Given the description of an element on the screen output the (x, y) to click on. 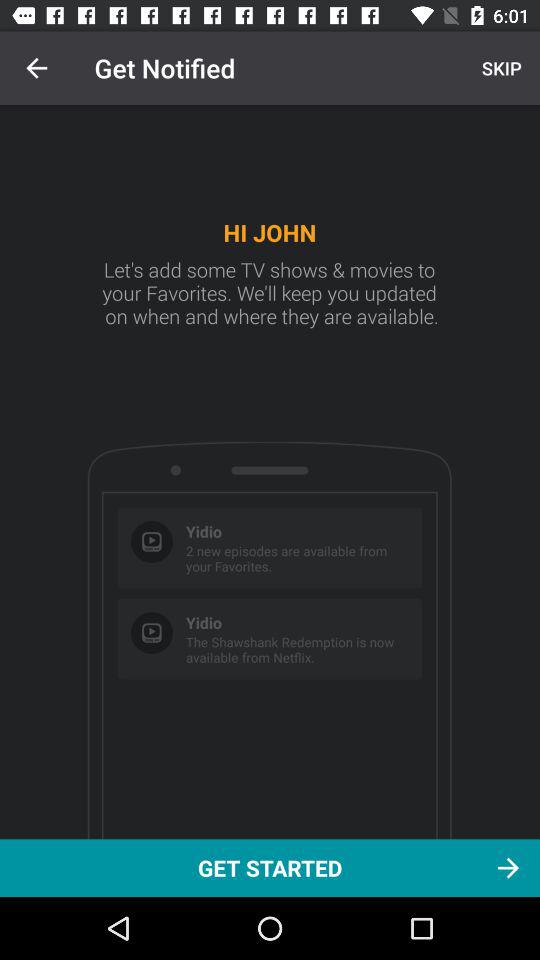
turn off the icon to the right of the get notified item (499, 67)
